Given the description of an element on the screen output the (x, y) to click on. 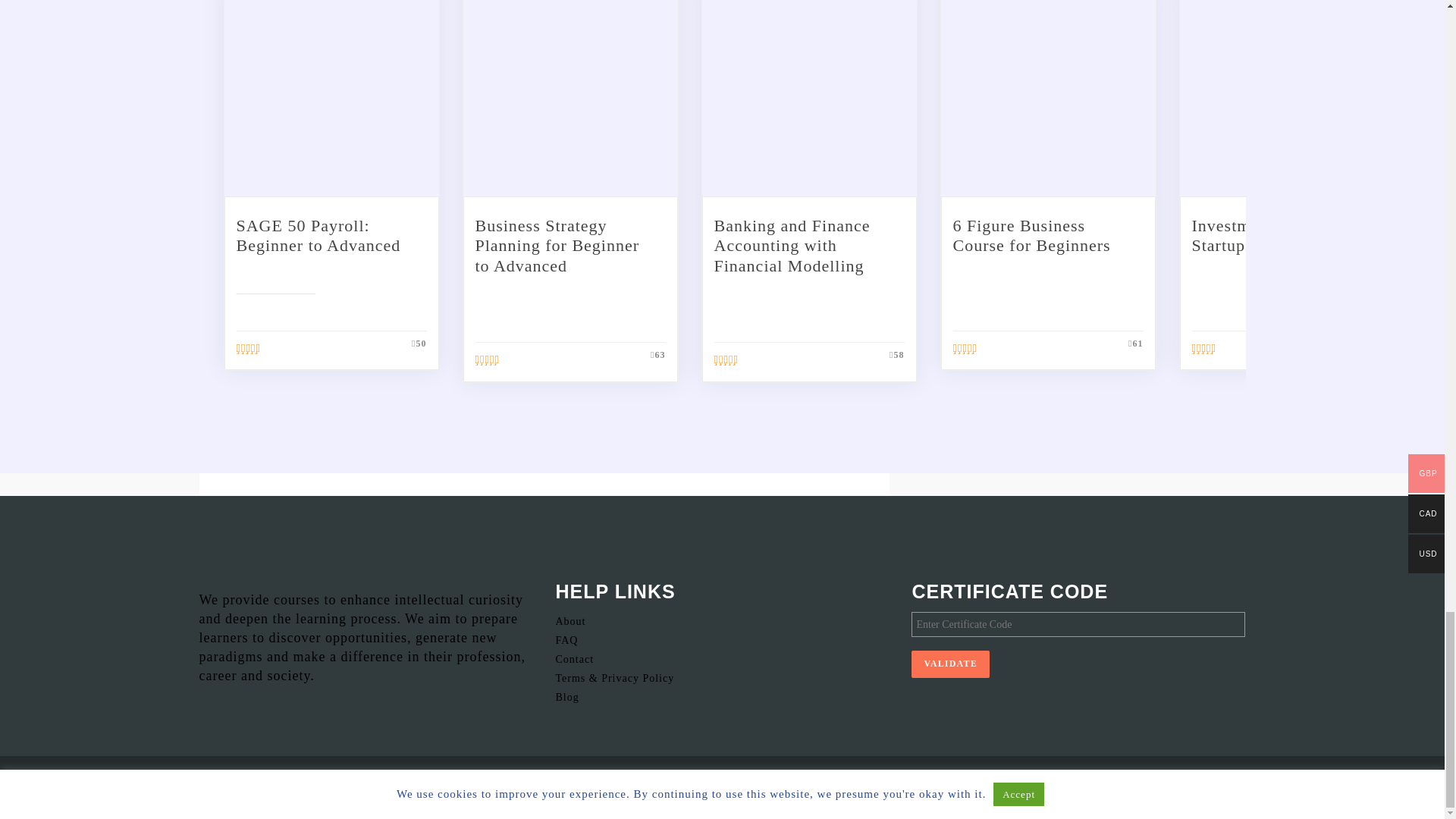
6 Figure Business Course for Beginners (1030, 235)
Validate (950, 663)
Business Strategy Planning for Beginner to Advanced (556, 245)
SAGE 50 Payroll: Beginner to Advanced (318, 235)
Investment Banking for Startups (1279, 235)
Banking and Finance Accounting with Financial Modelling (792, 245)
